Given the description of an element on the screen output the (x, y) to click on. 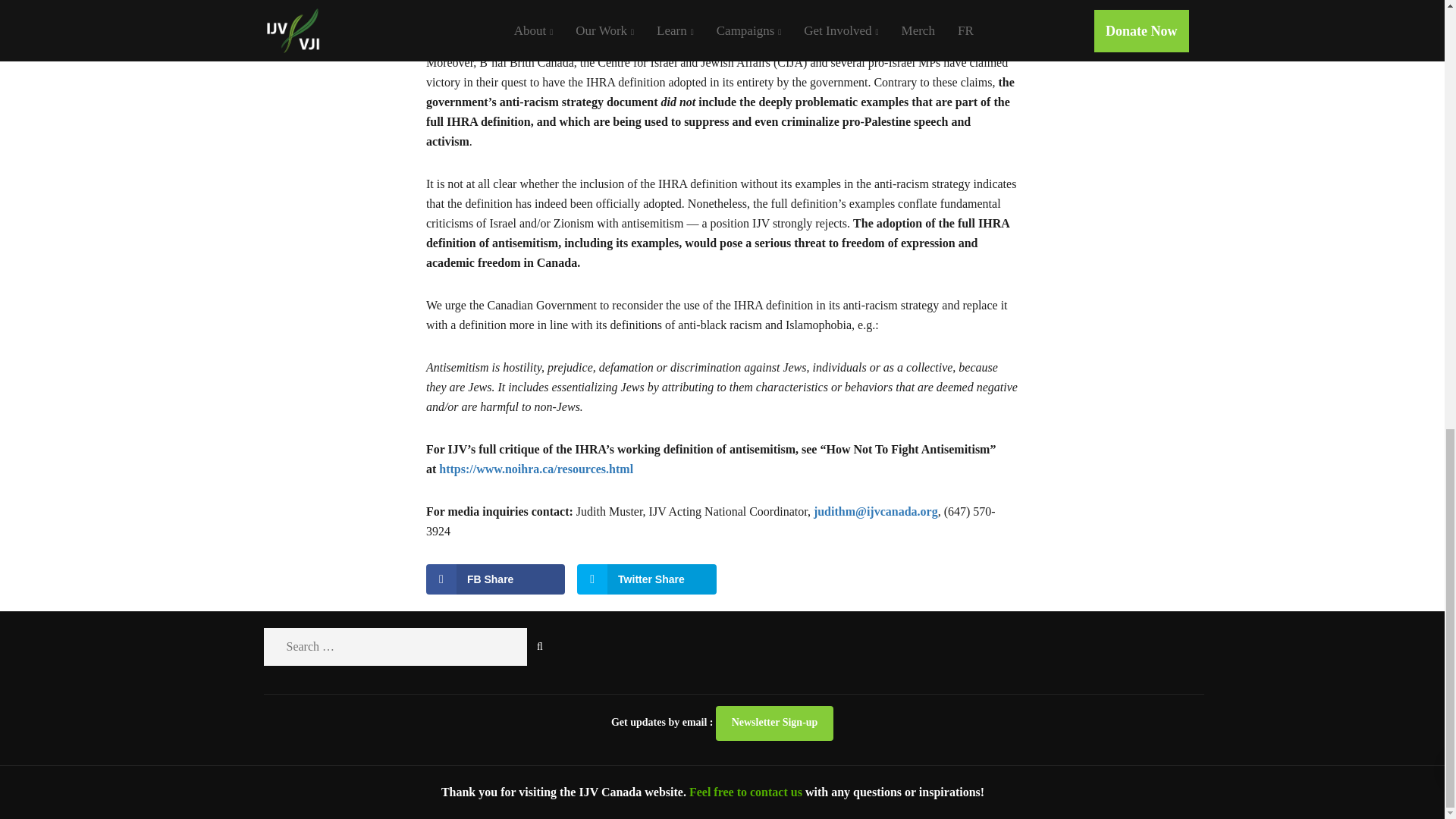
Feel free to contact us (746, 791)
Twitter Share (646, 579)
Newsletter Sign-up (774, 722)
FB Share (496, 579)
